Given the description of an element on the screen output the (x, y) to click on. 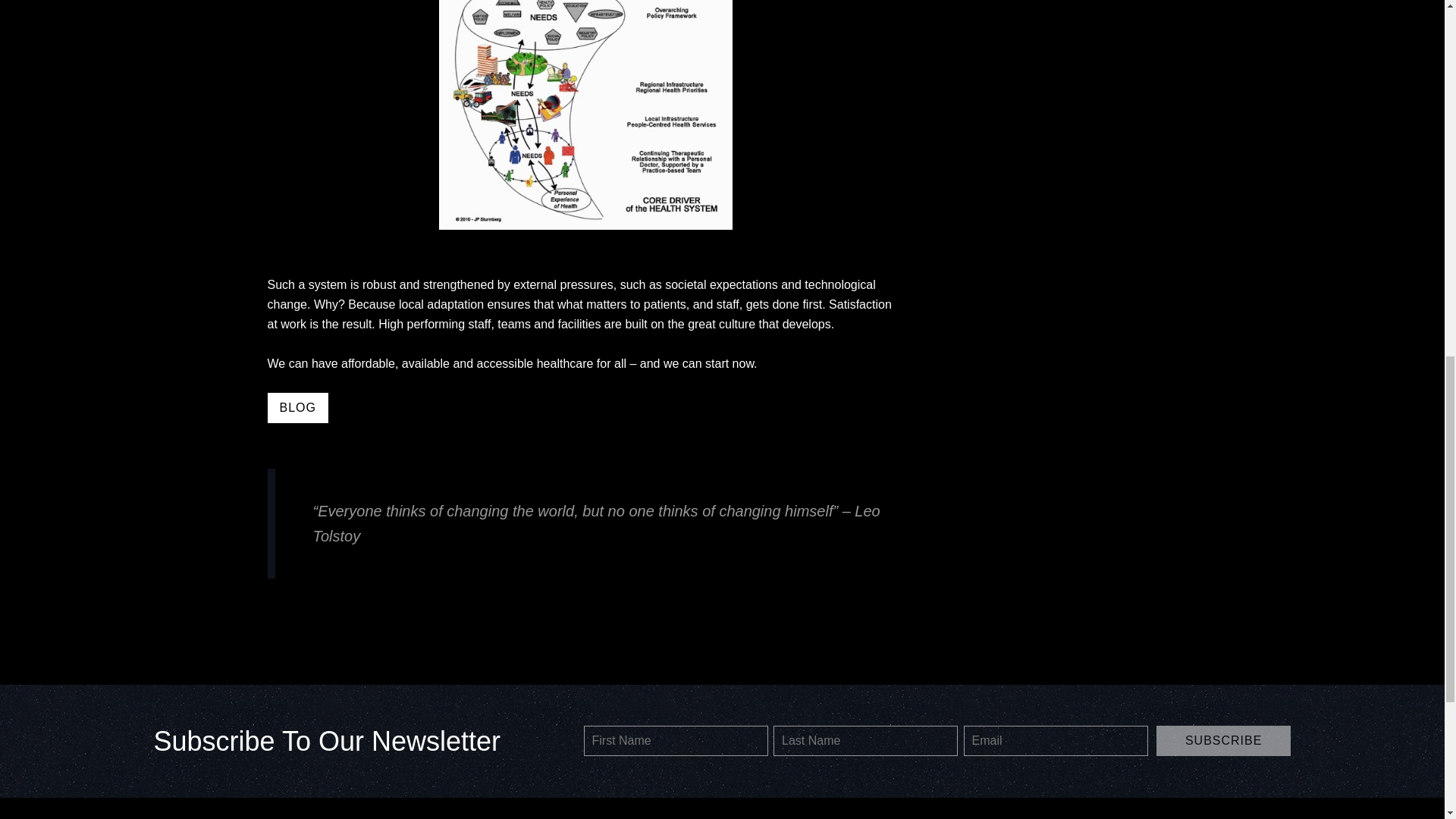
Subscribe (1223, 740)
Subscribe (1223, 740)
BLOG (296, 408)
